Given the description of an element on the screen output the (x, y) to click on. 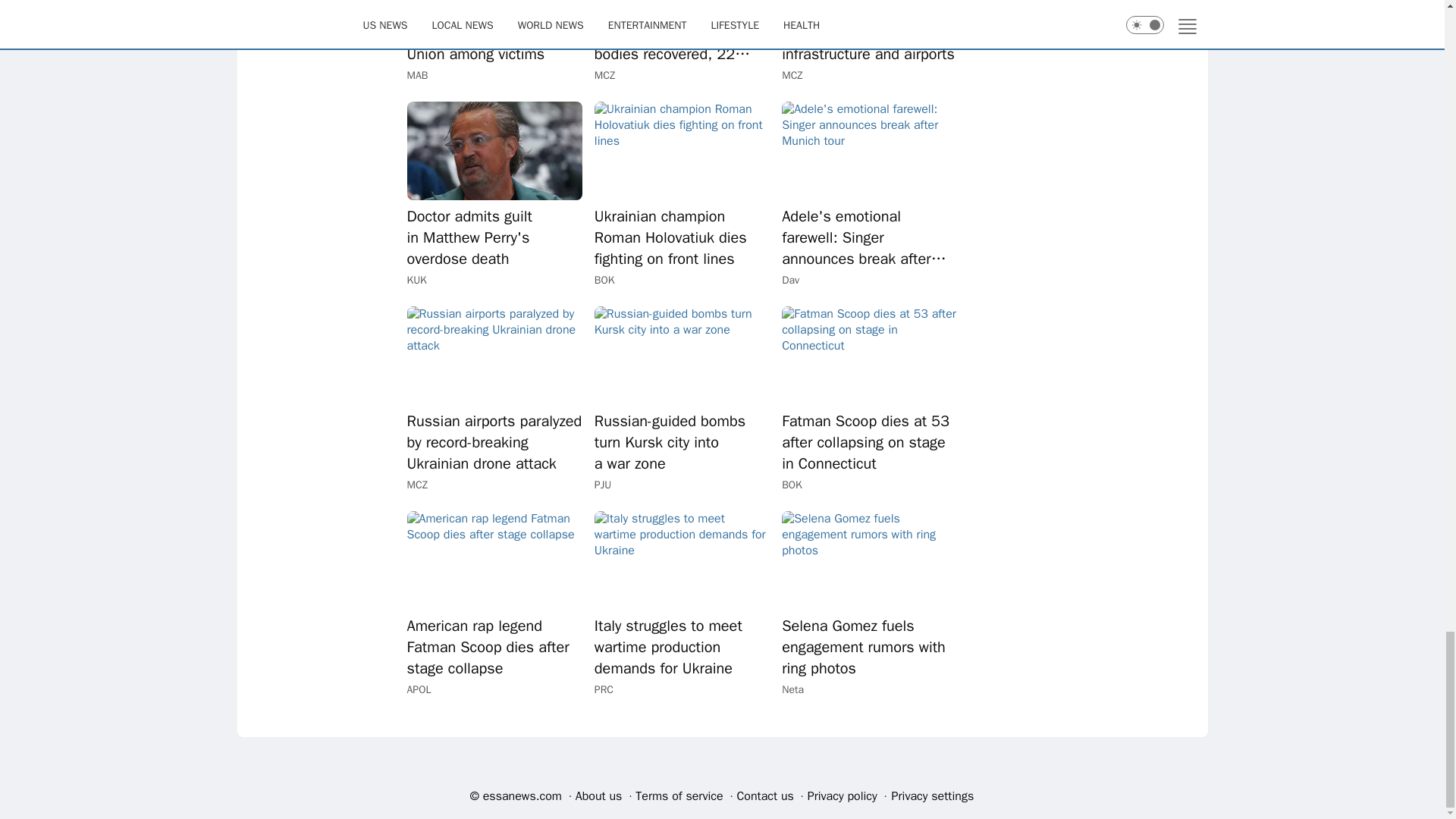
Doctor admits guilt in Matthew Perry's overdose death (493, 150)
Russian-guided bombs turn Kursk city into a war zone (682, 355)
